Given the description of an element on the screen output the (x, y) to click on. 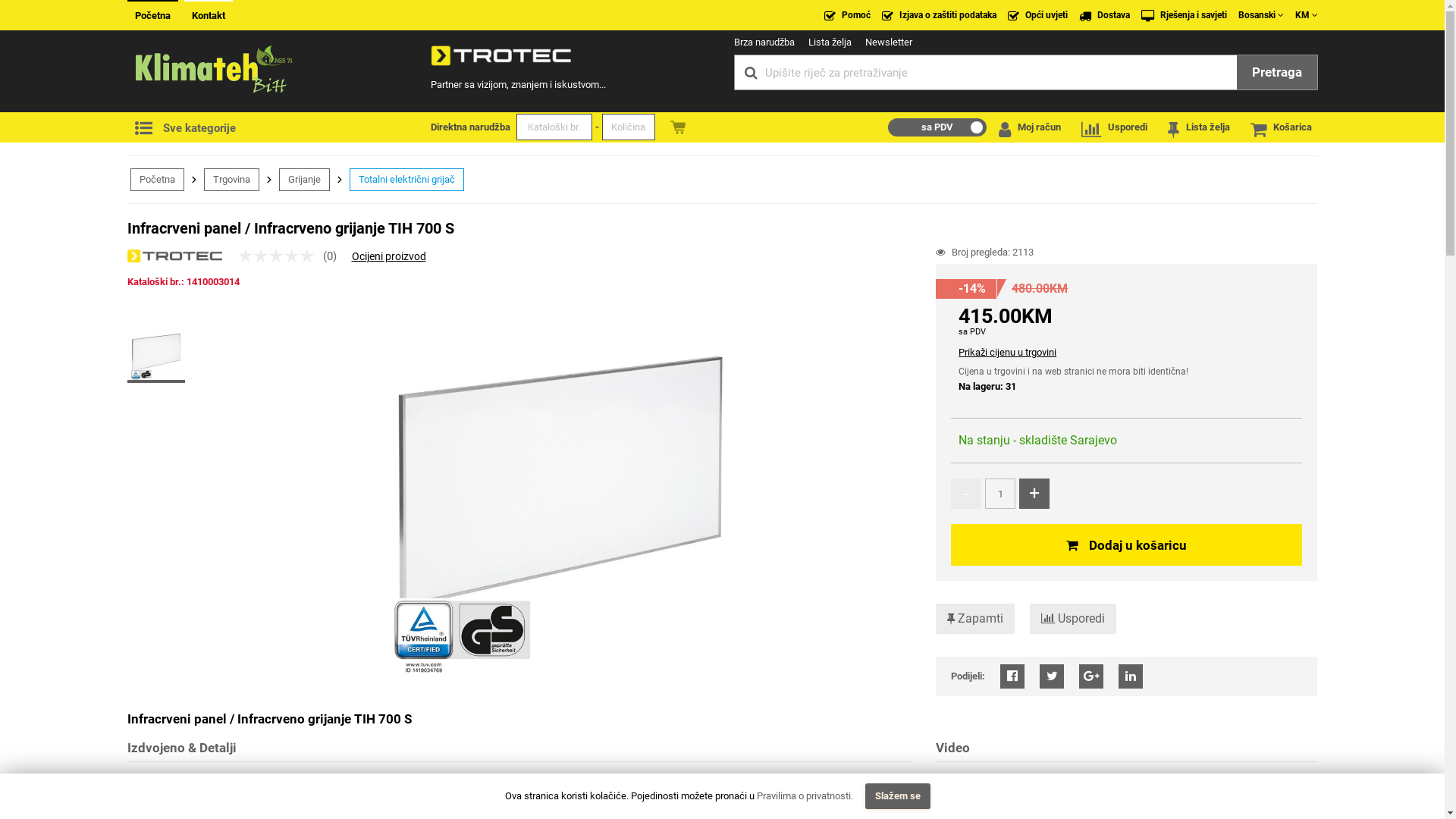
- Element type: text (965, 493)
Sve kategorije Element type: text (213, 127)
+ Element type: text (1034, 493)
Usporedi Element type: text (1110, 130)
Dostava Element type: text (1103, 15)
Infracrveni panel / Infracrveno grijanje TIH 700 S Element type: hover (560, 494)
Pravilima o privatnosti. Element type: text (804, 795)
Pretraga Element type: text (1276, 72)
Grijanje Element type: text (304, 179)
Zapamti Element type: text (974, 618)
Usporedi Element type: text (1072, 618)
Kontakt Element type: text (207, 14)
Newsletter Element type: text (887, 42)
Ocijeni proizvod Element type: text (388, 256)
Trgovina Element type: text (230, 179)
